Given the description of an element on the screen output the (x, y) to click on. 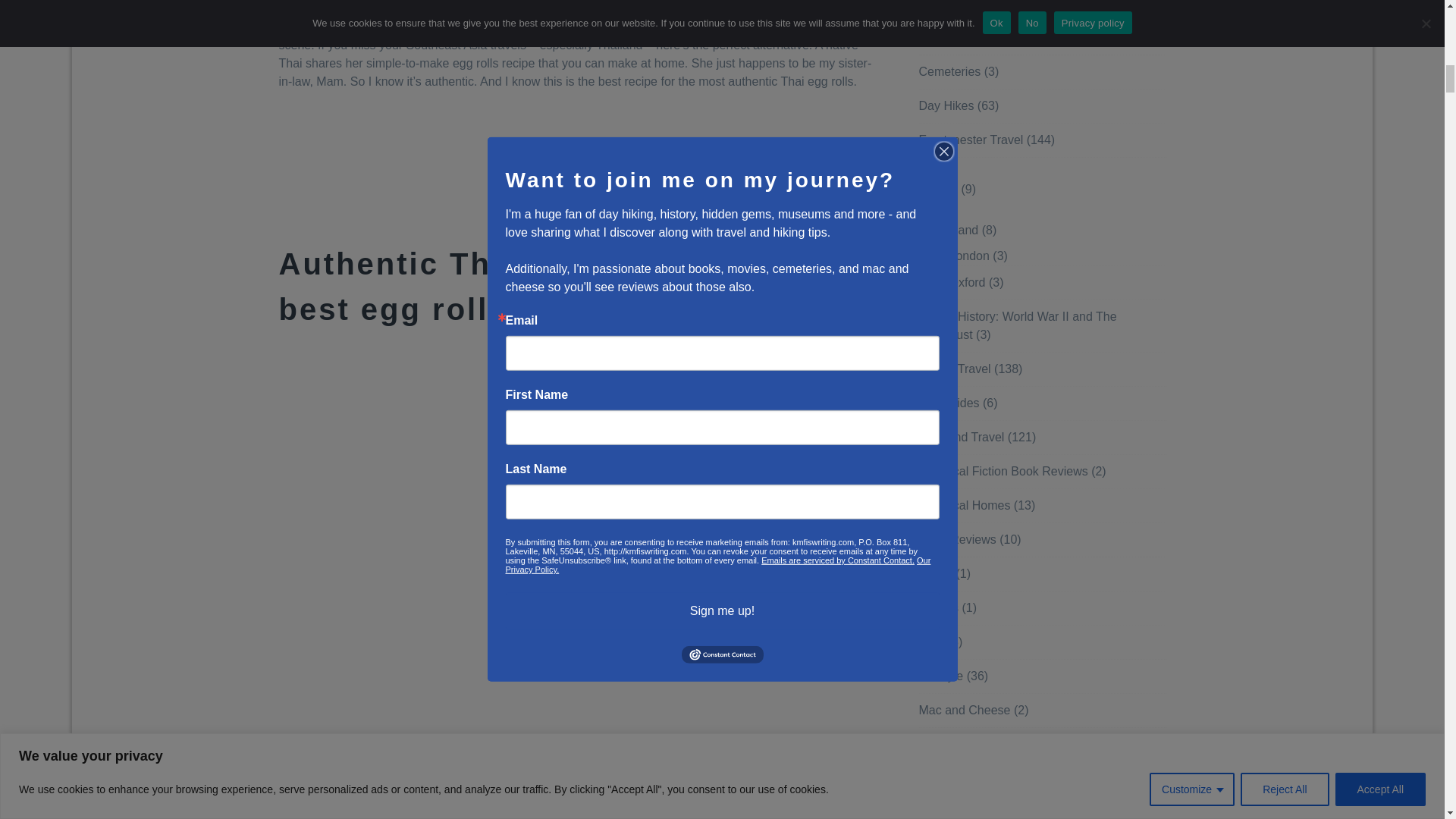
GetYourGuide Widget (579, 165)
